Given the description of an element on the screen output the (x, y) to click on. 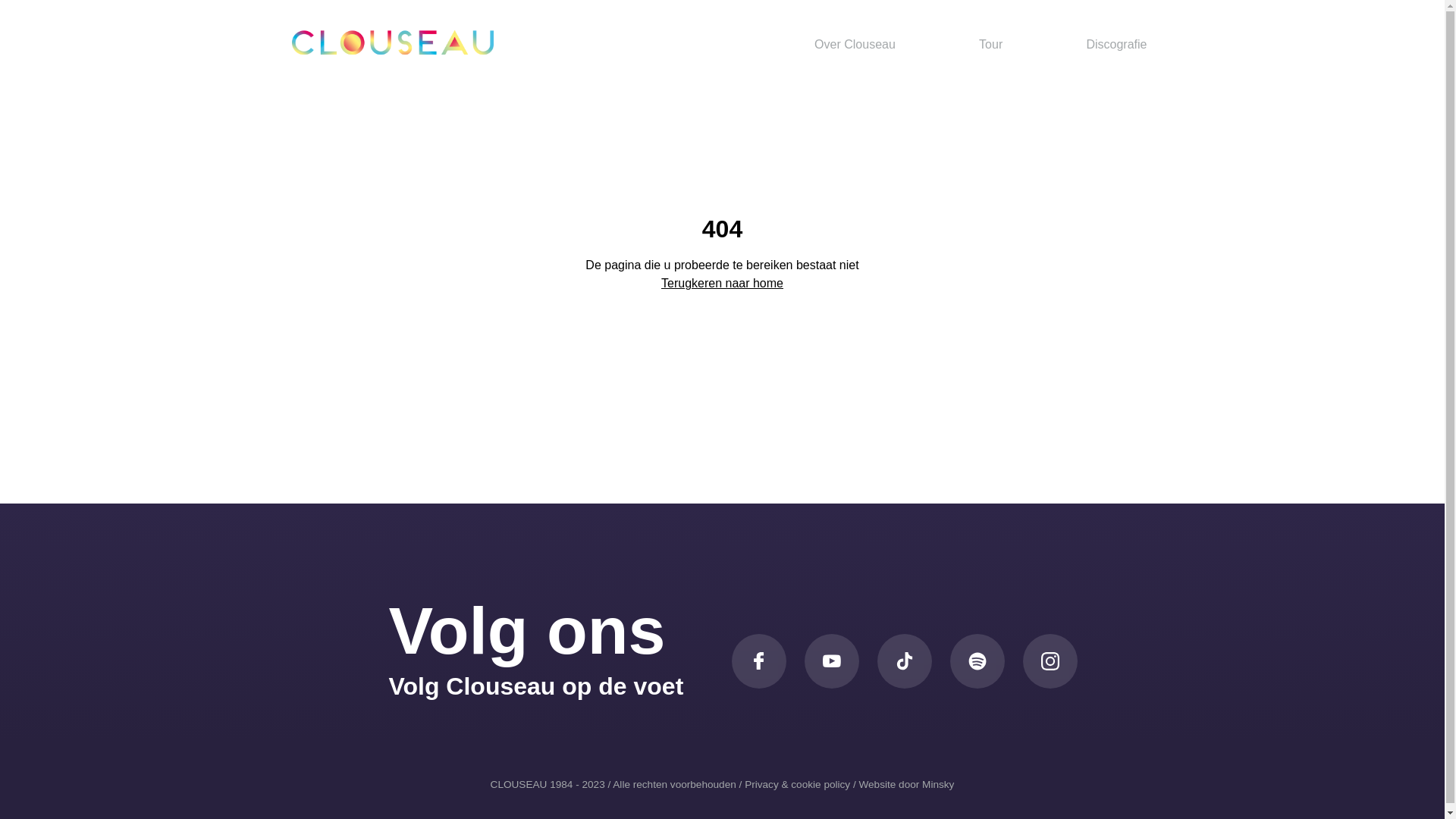
Discografie Element type: text (1115, 43)
Facebook Element type: text (758, 660)
Minsky Element type: text (937, 784)
Terugkeren naar home Element type: text (722, 282)
Instagram Element type: text (1049, 660)
Youtube Element type: text (830, 660)
Tour Element type: text (990, 43)
Spotify Element type: text (976, 660)
Privacy & cookie policy Element type: text (797, 784)
TikTok Element type: text (903, 660)
Over Clouseau Element type: text (854, 43)
Clouseau Element type: text (391, 42)
